Given the description of an element on the screen output the (x, y) to click on. 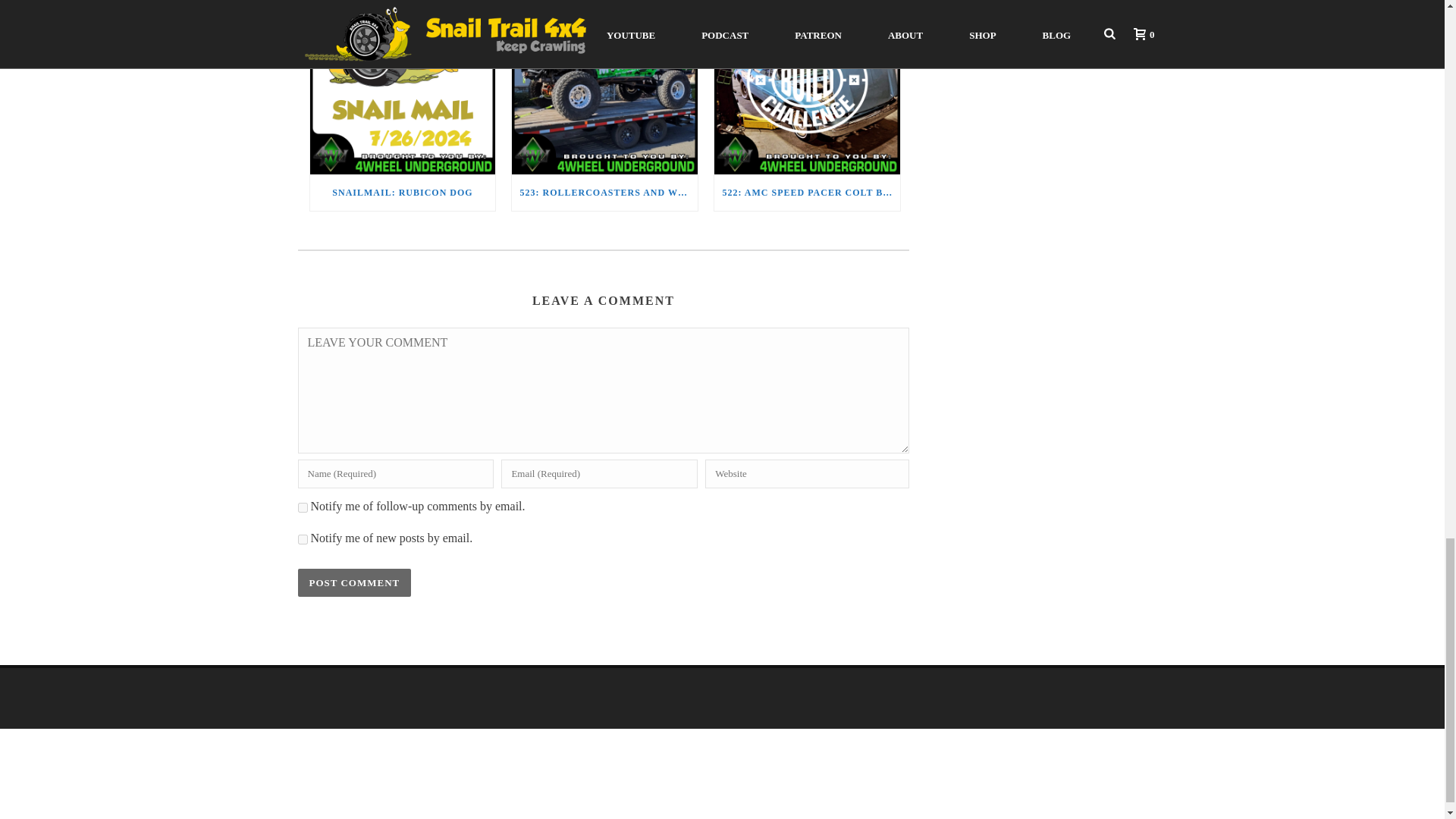
subscribe (302, 539)
SnailMail: Rubicon Dog (401, 87)
POST COMMENT (353, 582)
subscribe (302, 507)
